Given the description of an element on the screen output the (x, y) to click on. 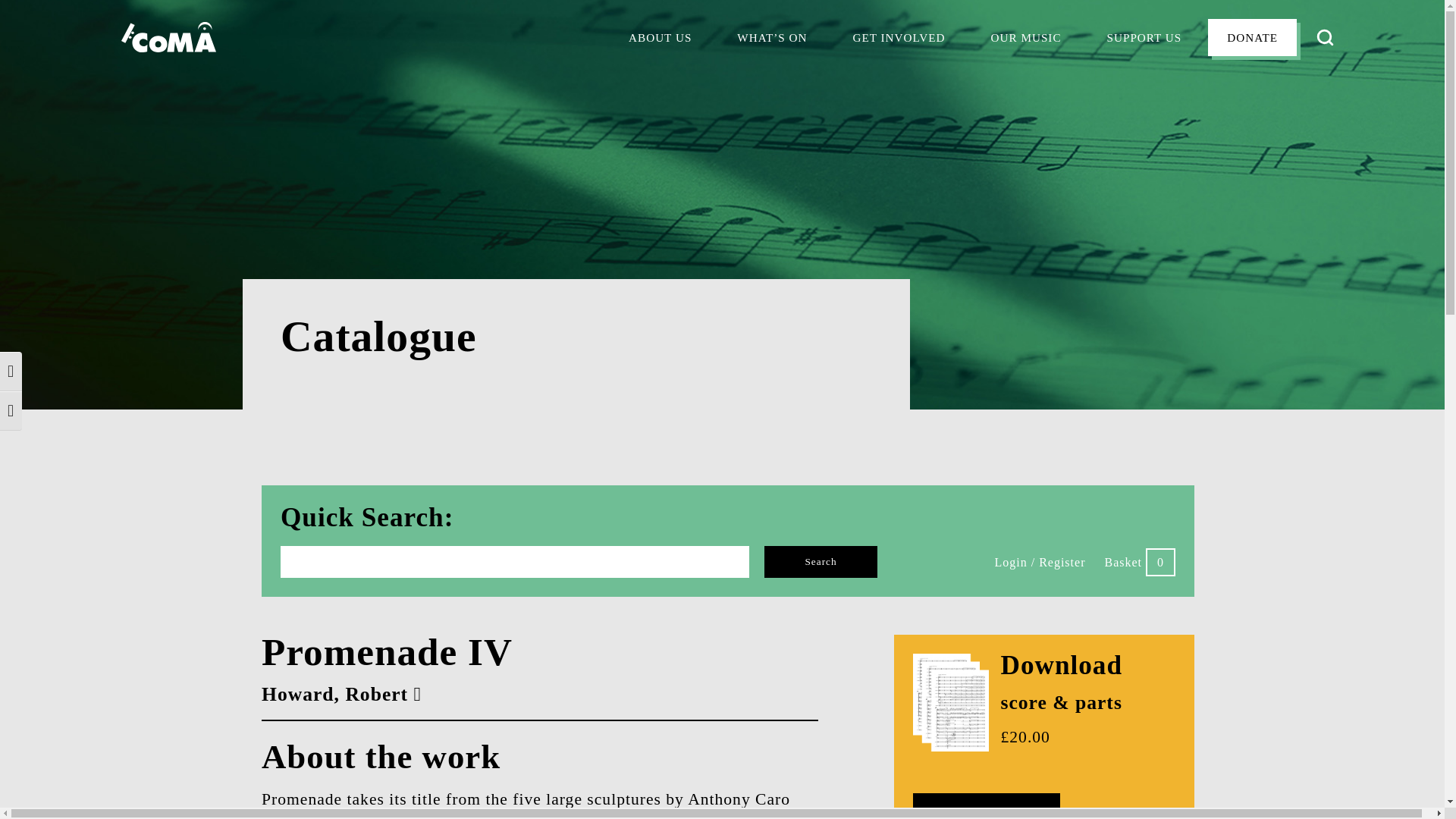
OUR HISTORY (669, 81)
ABOUT OUR MUSIC (1047, 81)
OUR IMPACT (664, 99)
OUR MUSIC (1026, 37)
GET INVOLVED (897, 37)
POLICIES (655, 186)
CONTACT US (665, 168)
Catalogue (727, 344)
Add to basket (985, 806)
PUBLICATIONS (1034, 116)
NEWS (753, 147)
OUR RESOURCES (678, 133)
Search (820, 562)
ABOUT US (659, 37)
COMA FESTIVAL 2024! (800, 130)
